Given the description of an element on the screen output the (x, y) to click on. 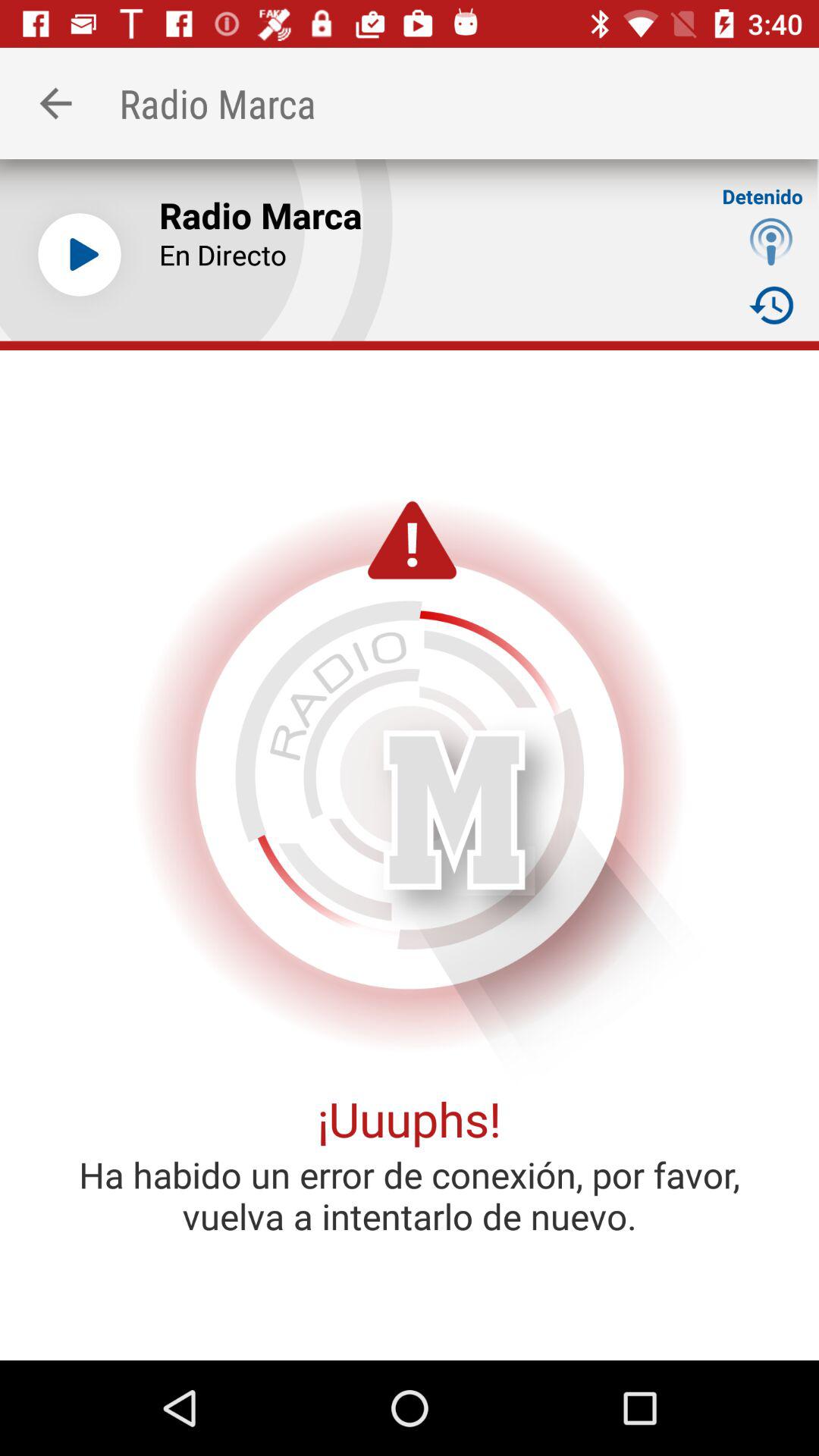
open the app next to the radio marca (55, 103)
